Given the description of an element on the screen output the (x, y) to click on. 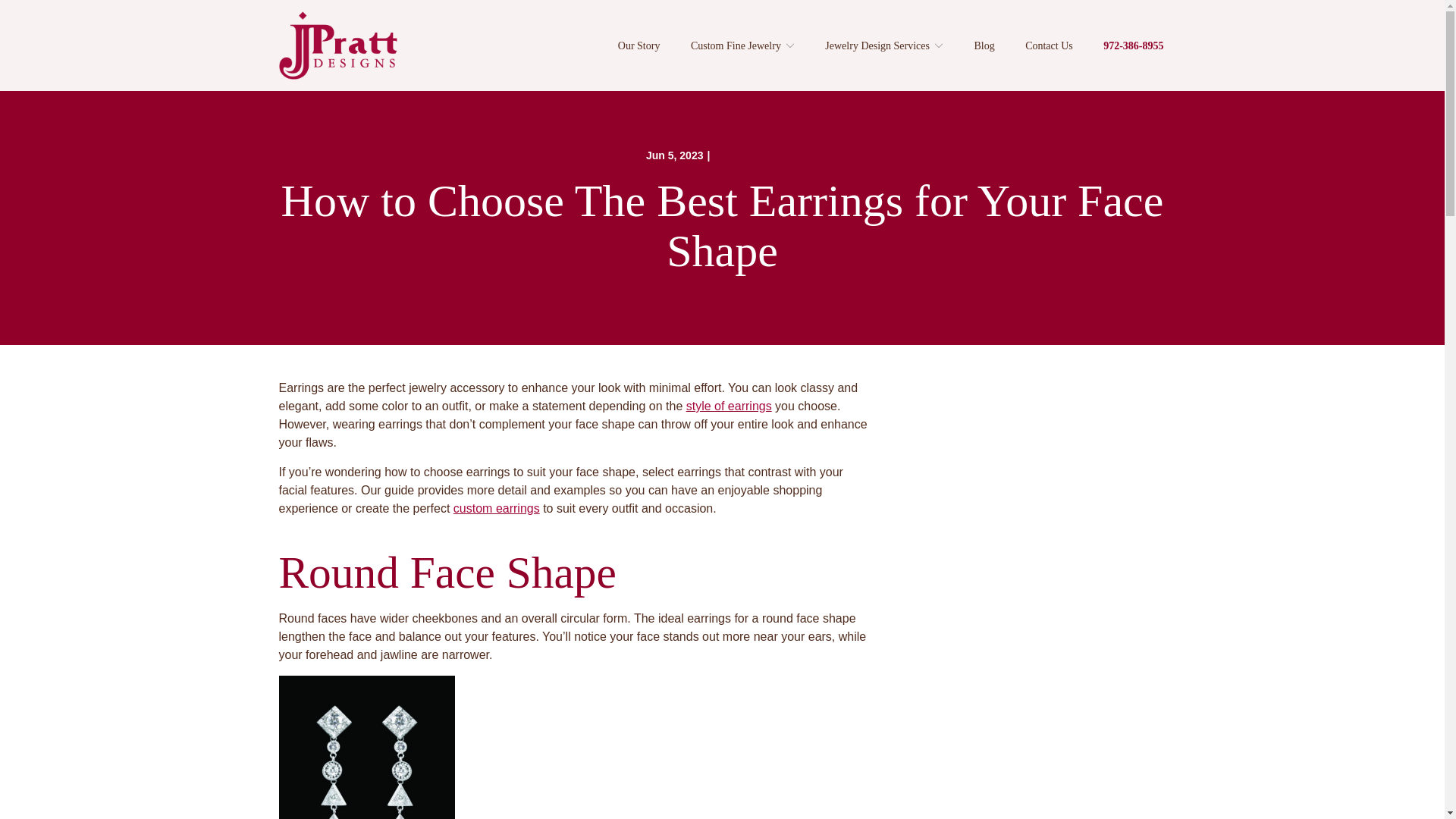
custom earrings (496, 508)
972-386-8955 (1133, 45)
Contact Us (1049, 45)
Blog (984, 45)
style of earrings (728, 405)
Custom Fine Jewelry (742, 45)
Jewelry Education (755, 155)
Our Story (639, 45)
Jewelry Design Services (884, 45)
